Given the description of an element on the screen output the (x, y) to click on. 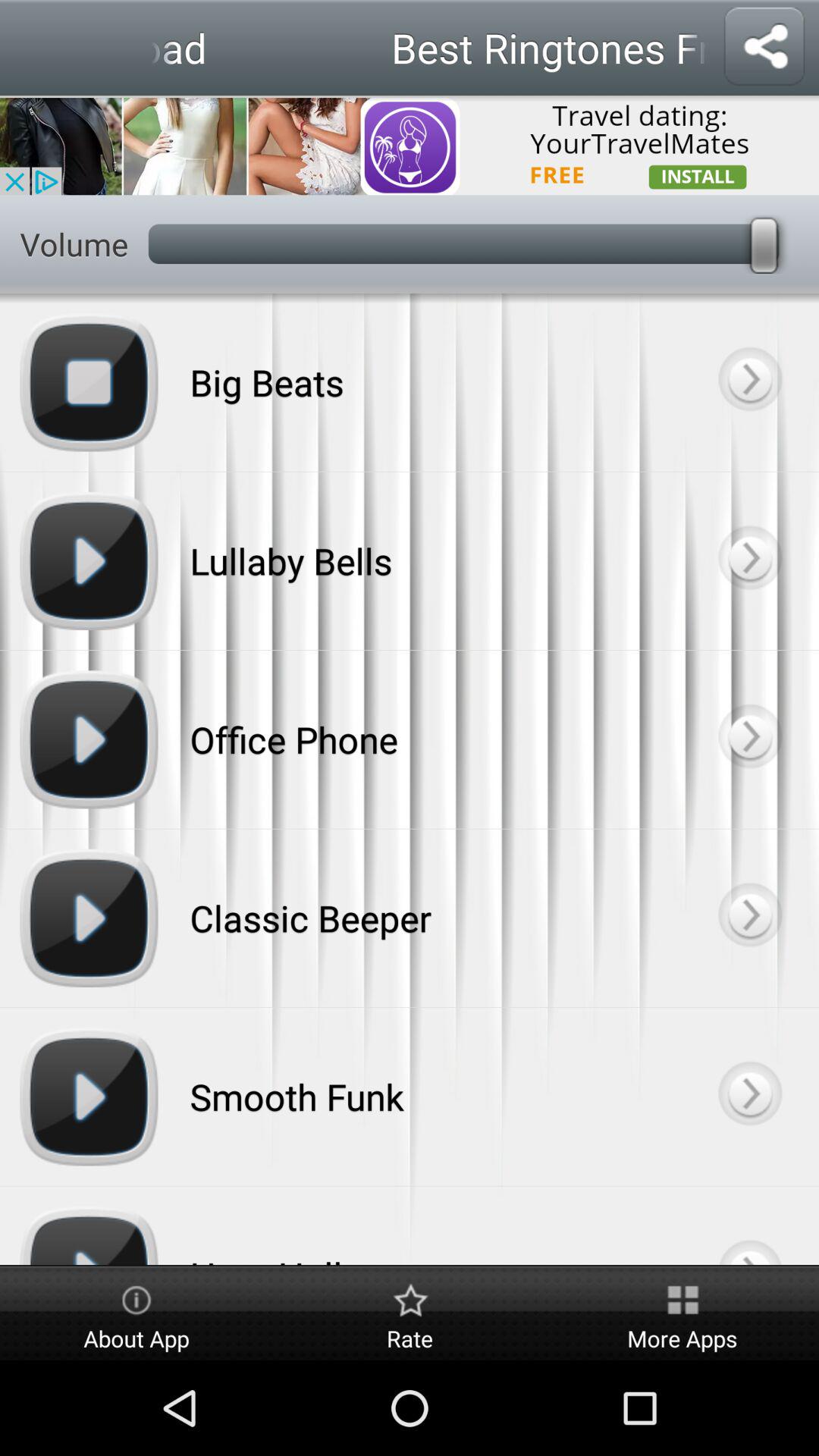
go to next option (749, 561)
